Given the description of an element on the screen output the (x, y) to click on. 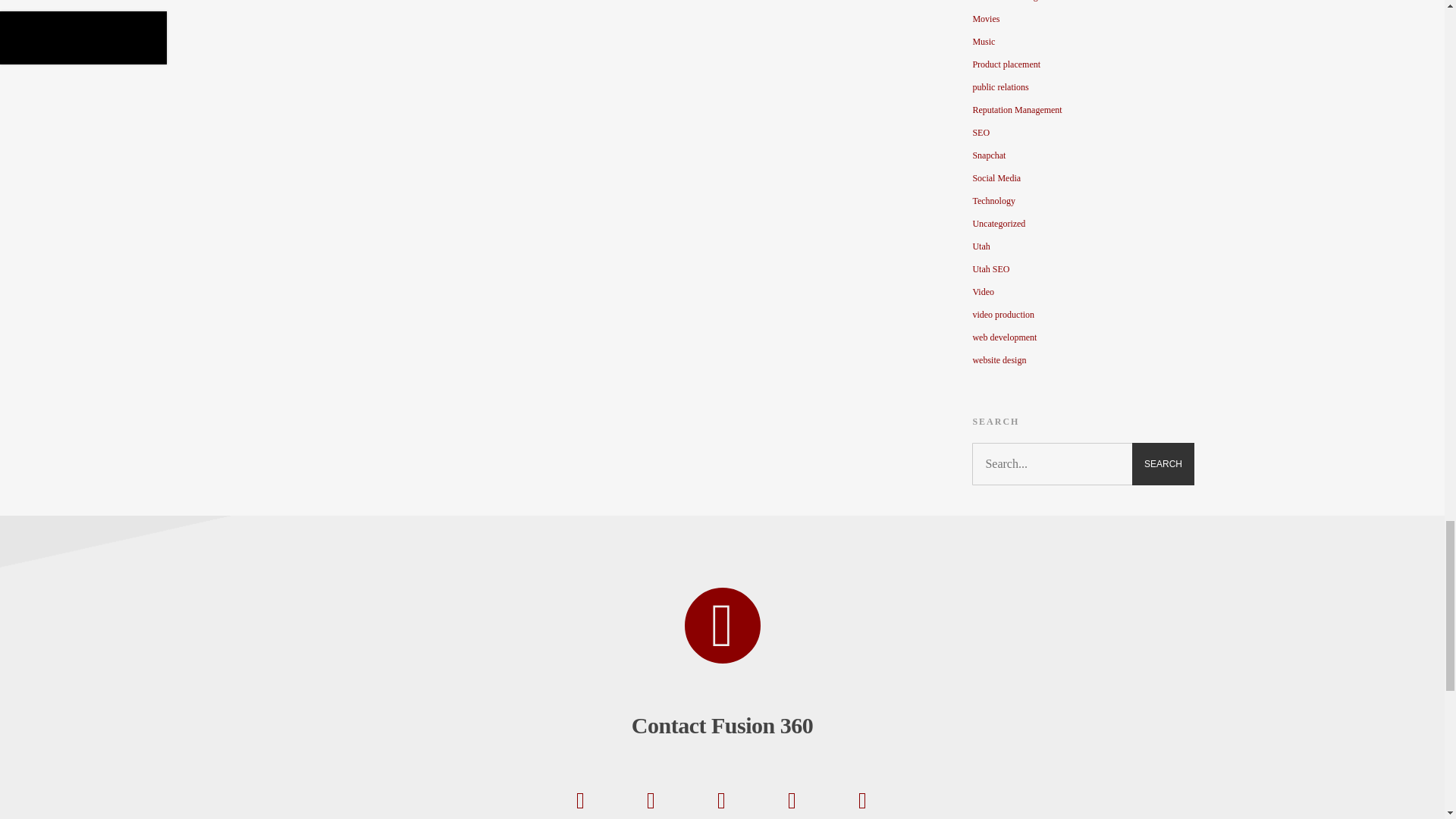
Search (1162, 464)
Search (1162, 464)
Search for: (1082, 464)
